Given the description of an element on the screen output the (x, y) to click on. 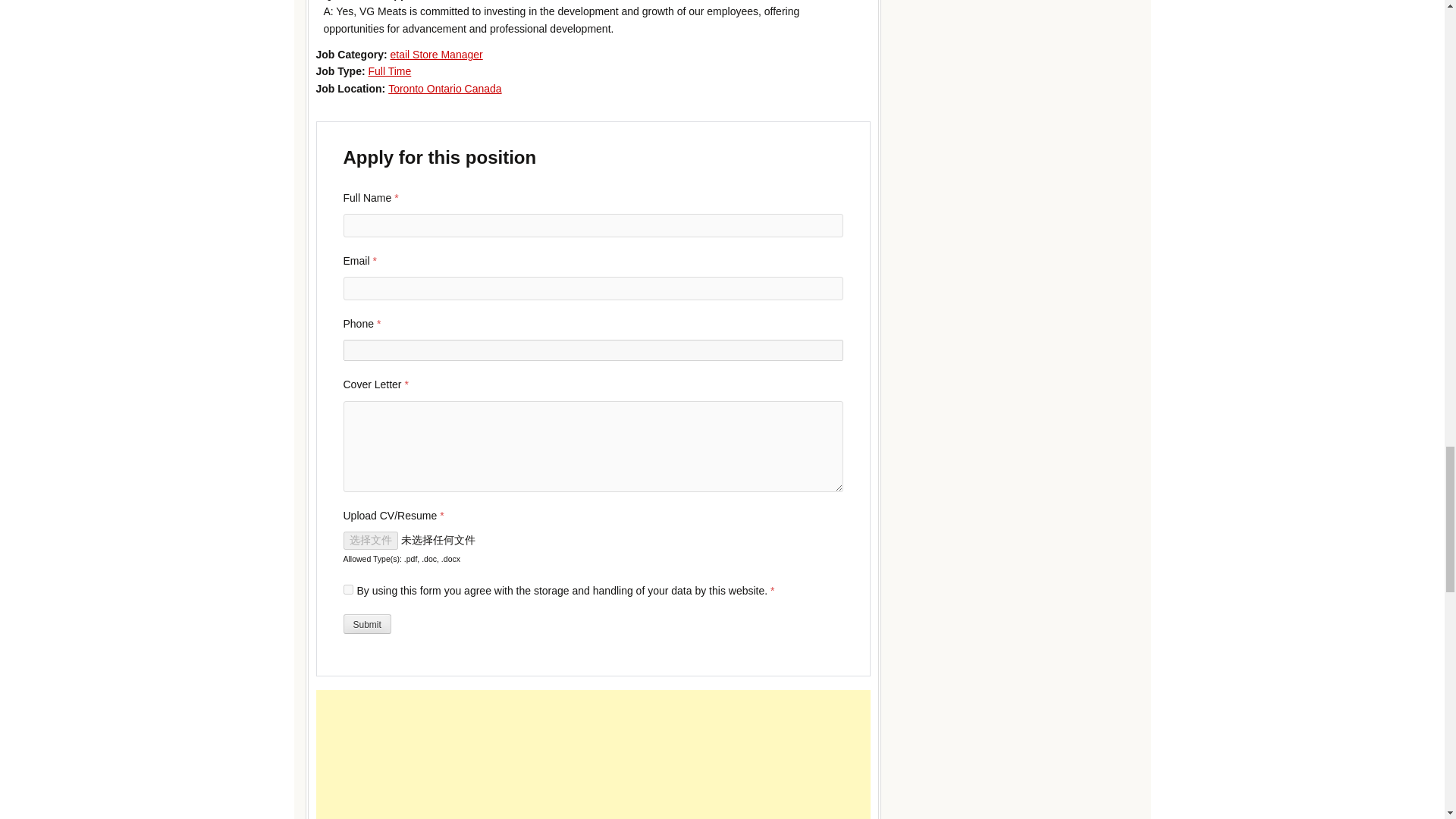
yes (347, 589)
Submit (366, 623)
Full Time (389, 70)
etail Store Manager (436, 54)
Submit (366, 623)
Toronto Ontario Canada (444, 88)
